Given the description of an element on the screen output the (x, y) to click on. 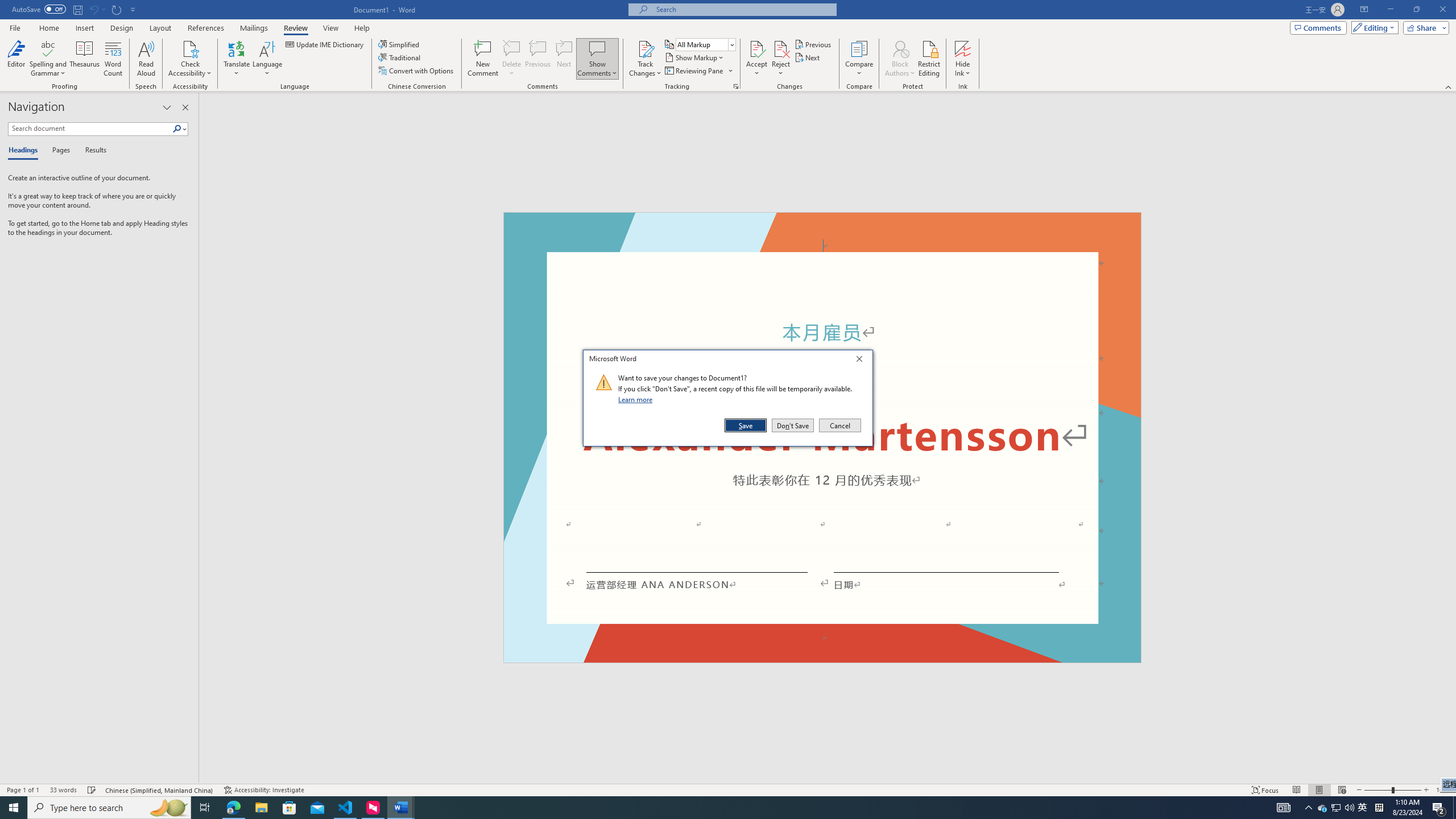
Language (267, 58)
Hide Ink (962, 48)
